Given the description of an element on the screen output the (x, y) to click on. 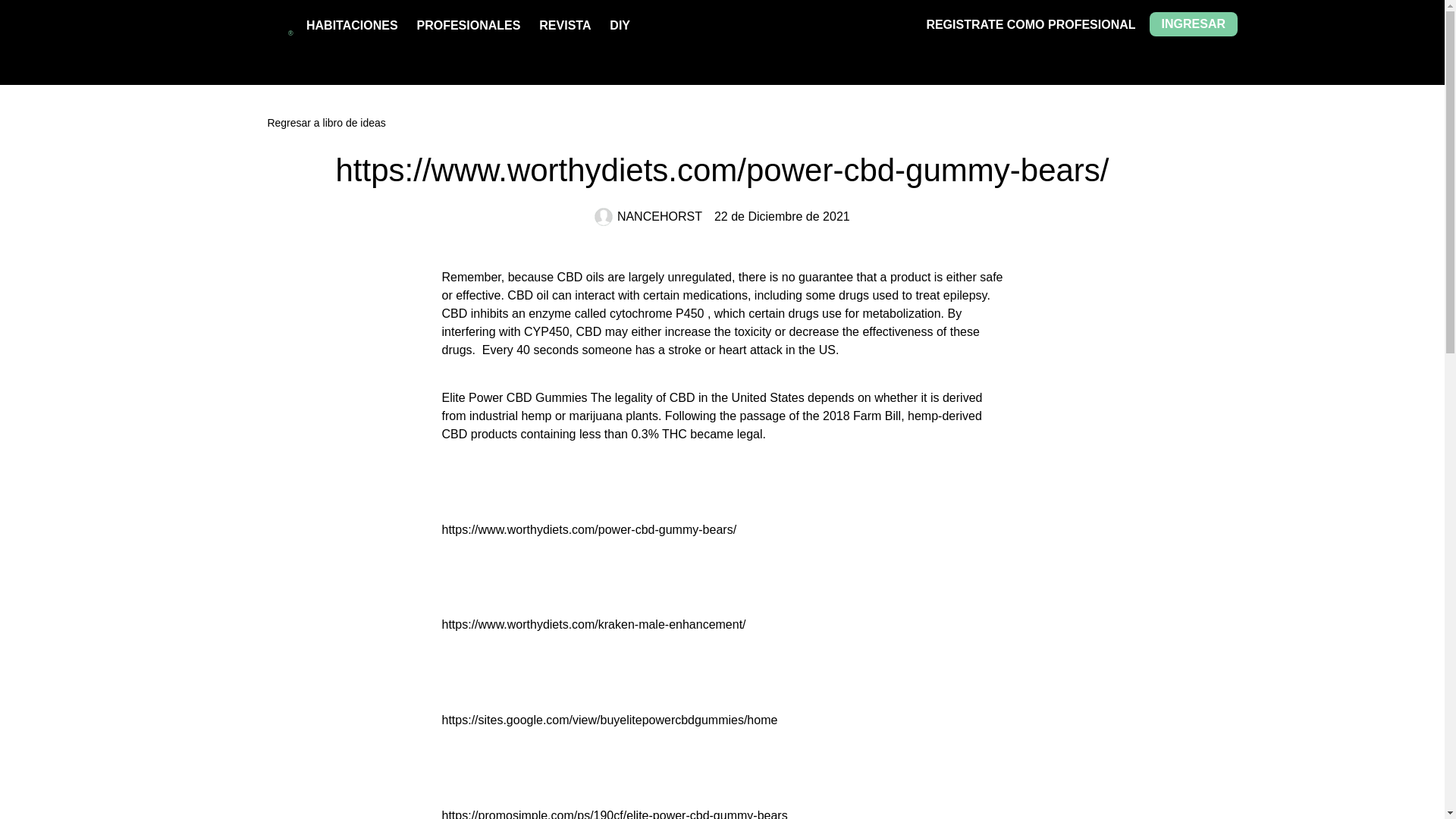
PROFESIONALES (467, 25)
HABITACIONES (351, 25)
INGRESAR (1193, 24)
REGISTRATE COMO PROFESIONAL (1030, 23)
NANCEHORST (647, 217)
Regresar a libro de ideas (721, 122)
DIY (620, 25)
REVISTA (564, 25)
